Given the description of an element on the screen output the (x, y) to click on. 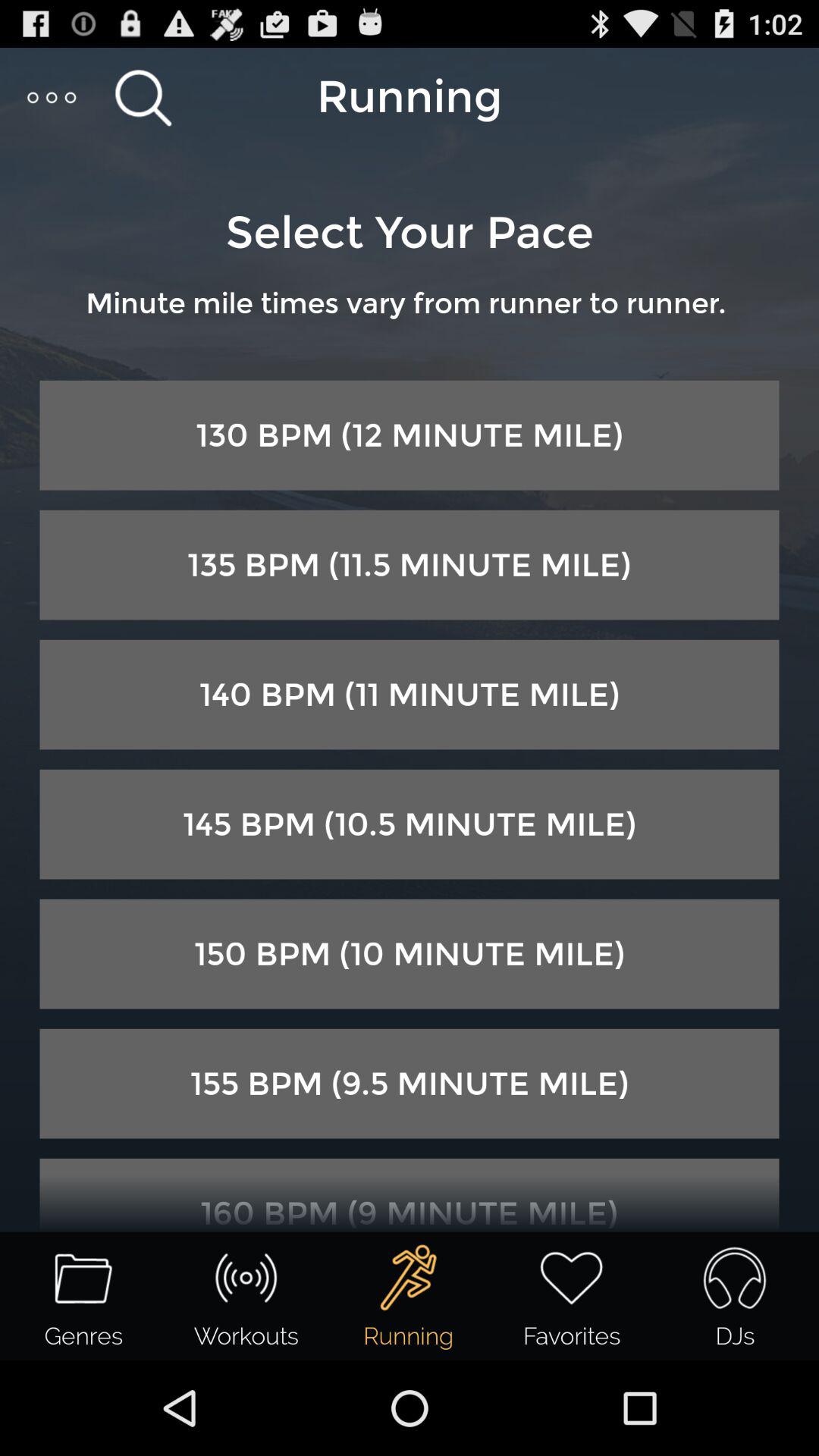
search box (142, 97)
